Given the description of an element on the screen output the (x, y) to click on. 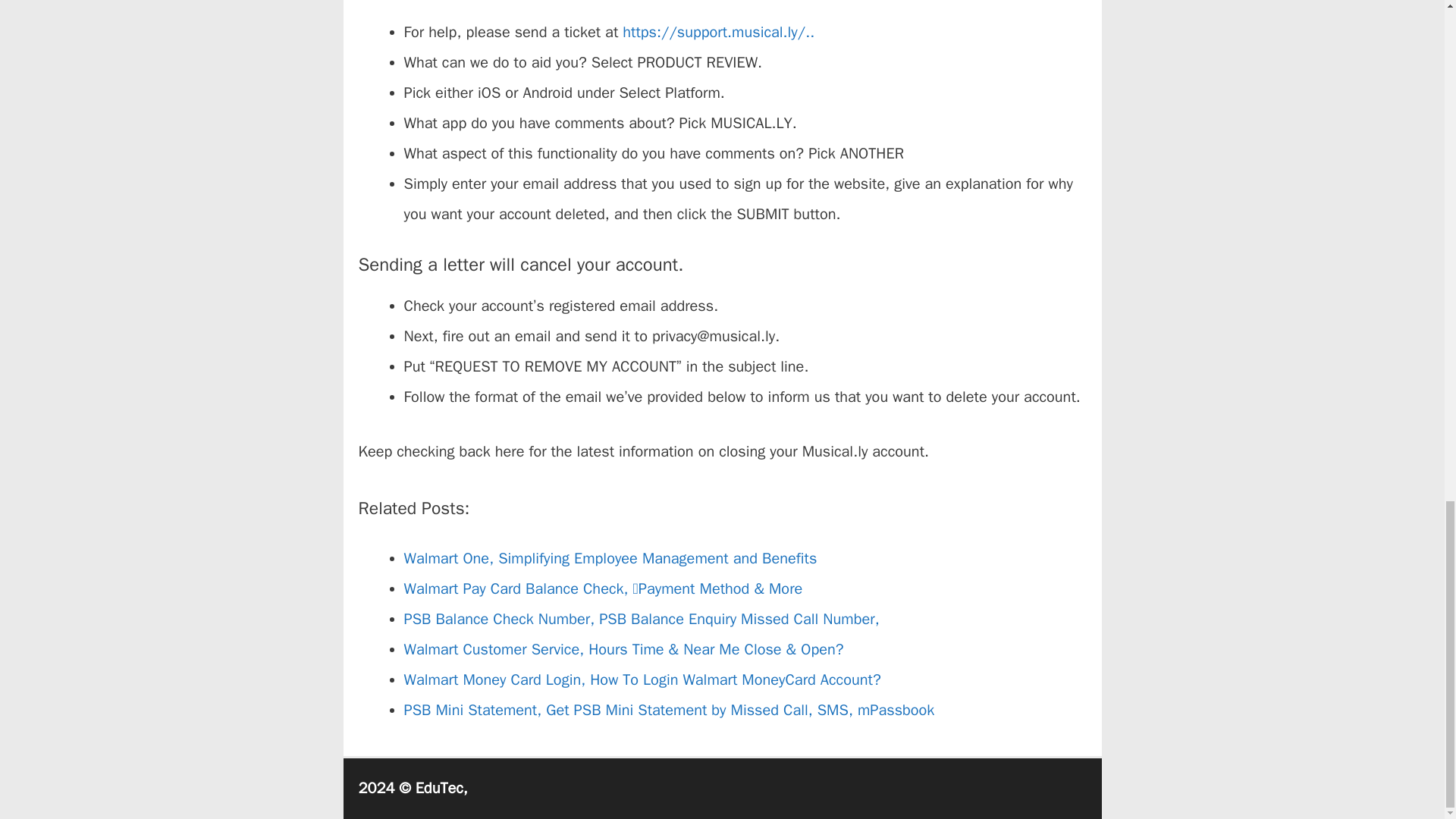
Walmart One, Simplifying Employee Management and Benefits (609, 558)
